Given the description of an element on the screen output the (x, y) to click on. 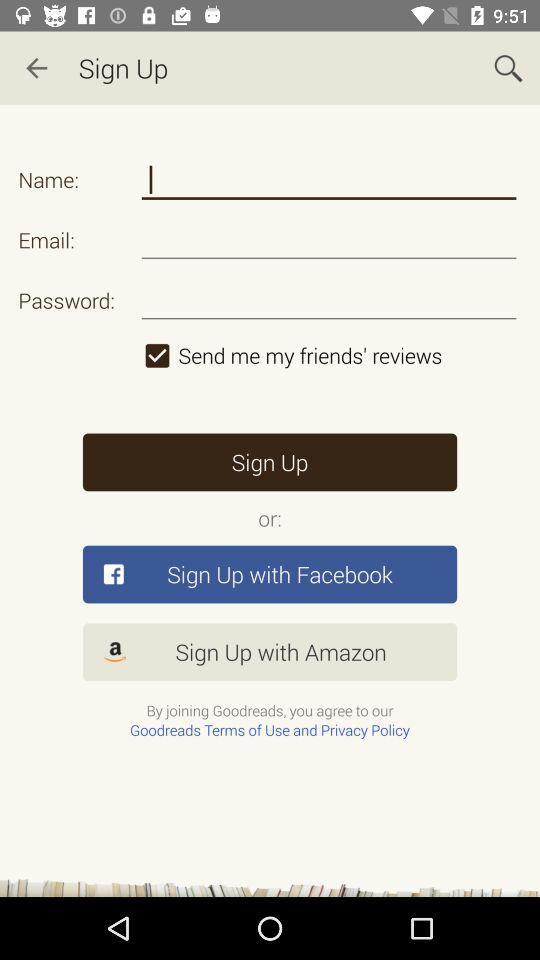
tap item next to password: icon (328, 355)
